Given the description of an element on the screen output the (x, y) to click on. 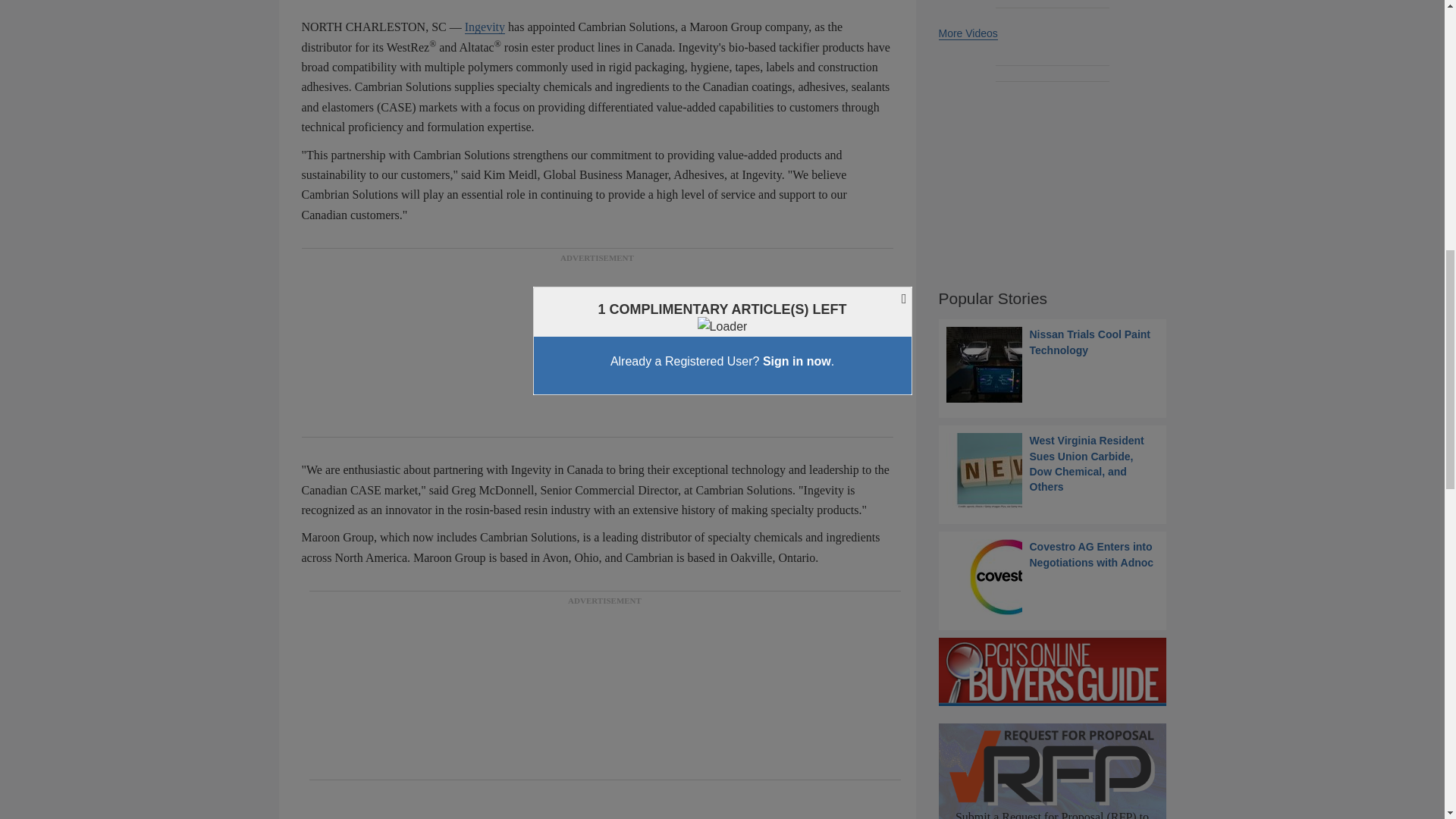
Nissan Trials Cool Paint Technology (1052, 364)
Covestro AG Enters into Negotiations with Adnoc (1052, 576)
